Given the description of an element on the screen output the (x, y) to click on. 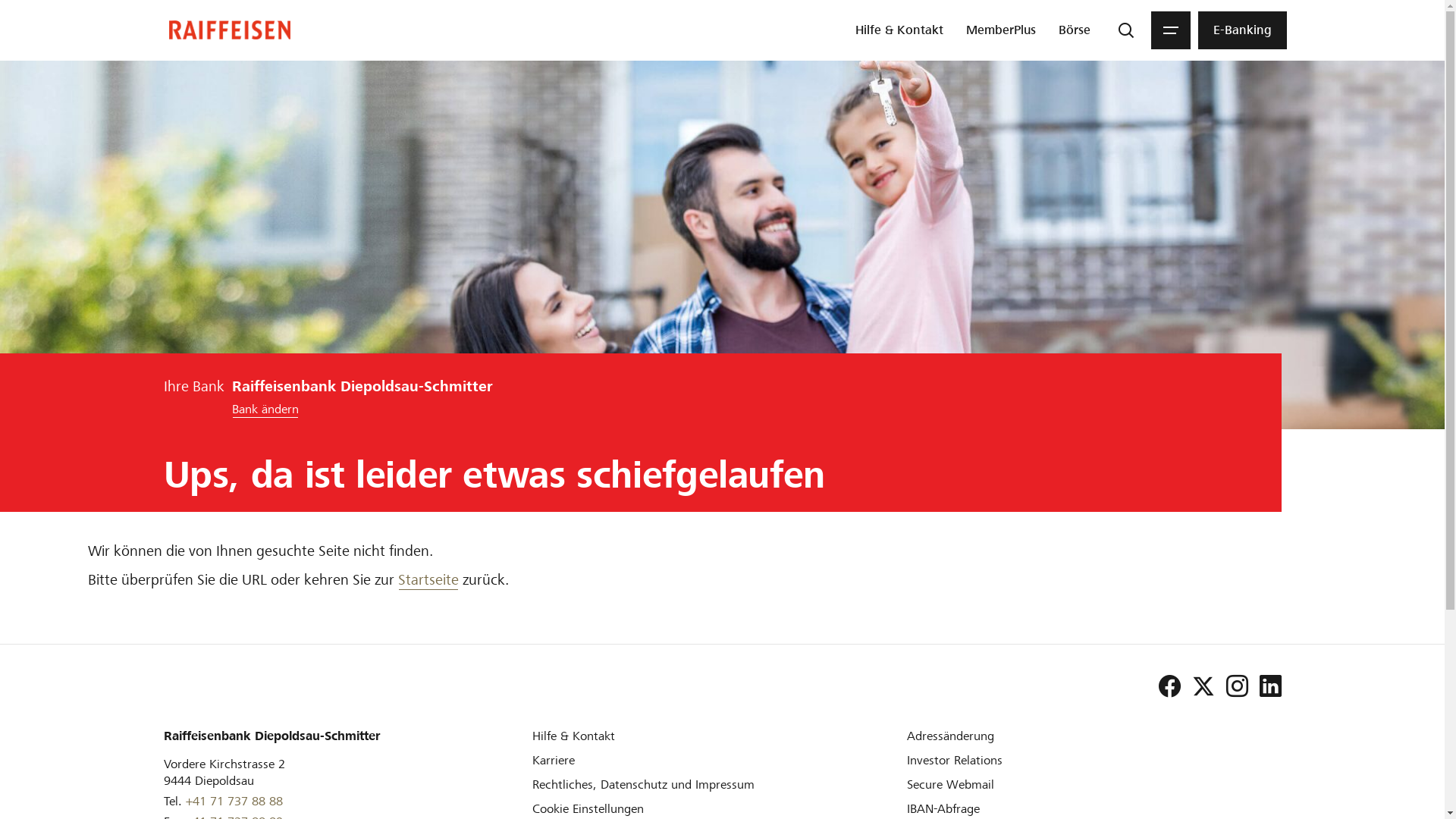
Investor Relations Element type: text (954, 760)
LinkedIn Element type: text (1264, 685)
Cookie Einstellungen Element type: text (587, 808)
X Element type: text (1196, 685)
Karriere Element type: text (553, 760)
Raiffeisenbank Diepoldsau-Schmitter Element type: hover (229, 29)
MemberPlus Element type: text (1000, 29)
+41 71 737 88 88 Element type: text (233, 801)
Instagram Element type: text (1231, 685)
Rechtliches, Datenschutz und Impressum Element type: text (643, 784)
IBAN-Abfrage Element type: text (942, 808)
Ihre Bank Element type: text (193, 386)
Secure Webmail Element type: text (950, 784)
Raiffeisenbank Diepoldsau-Schmitter Element type: hover (229, 29)
Hilfe & Kontakt Element type: text (899, 29)
Hilfe & Kontakt Element type: text (573, 735)
Startseite Element type: text (427, 580)
Facebook Element type: text (1162, 685)
E-Banking Element type: text (1242, 29)
